Given the description of an element on the screen output the (x, y) to click on. 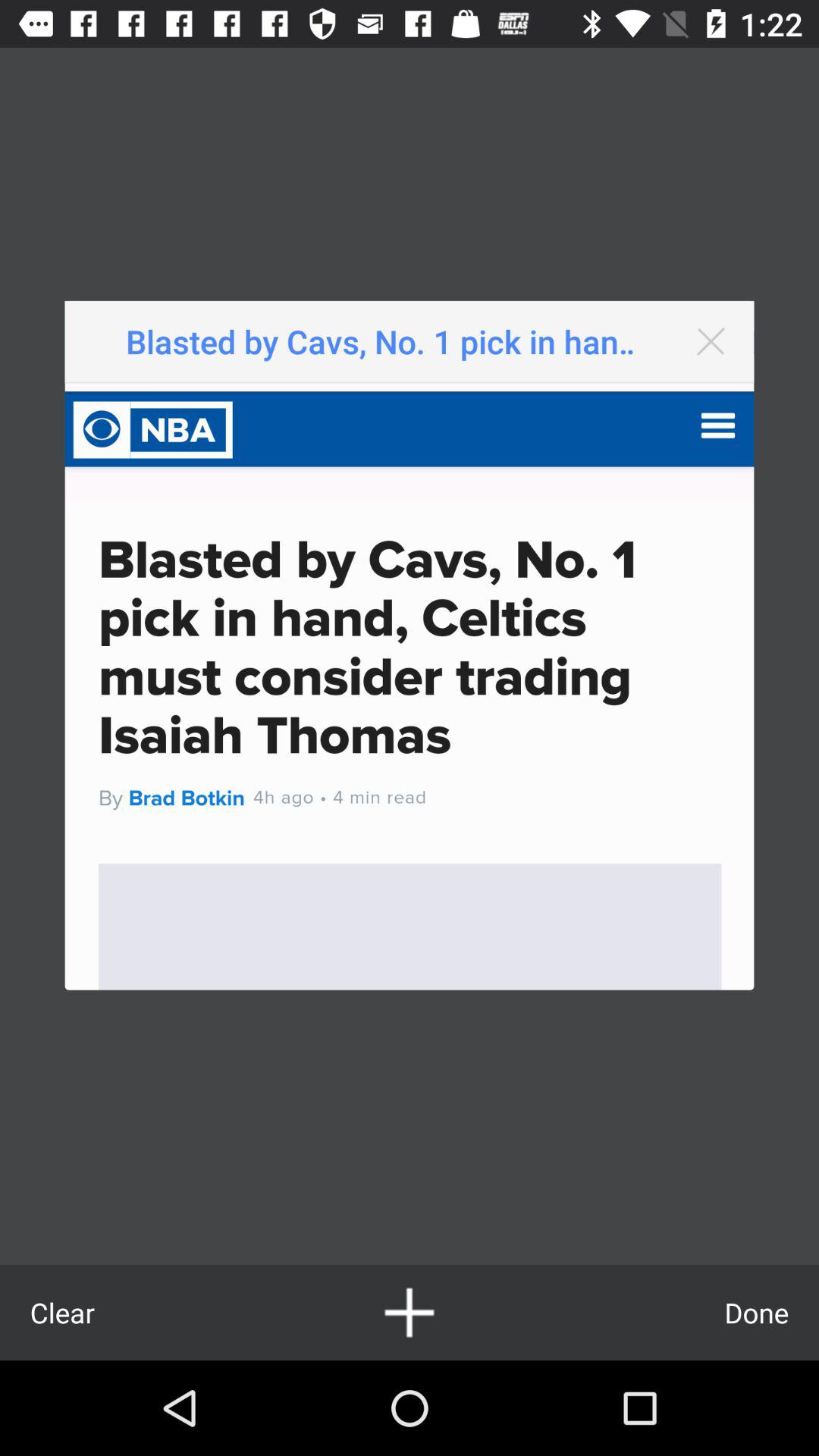
add news (409, 1312)
